Given the description of an element on the screen output the (x, y) to click on. 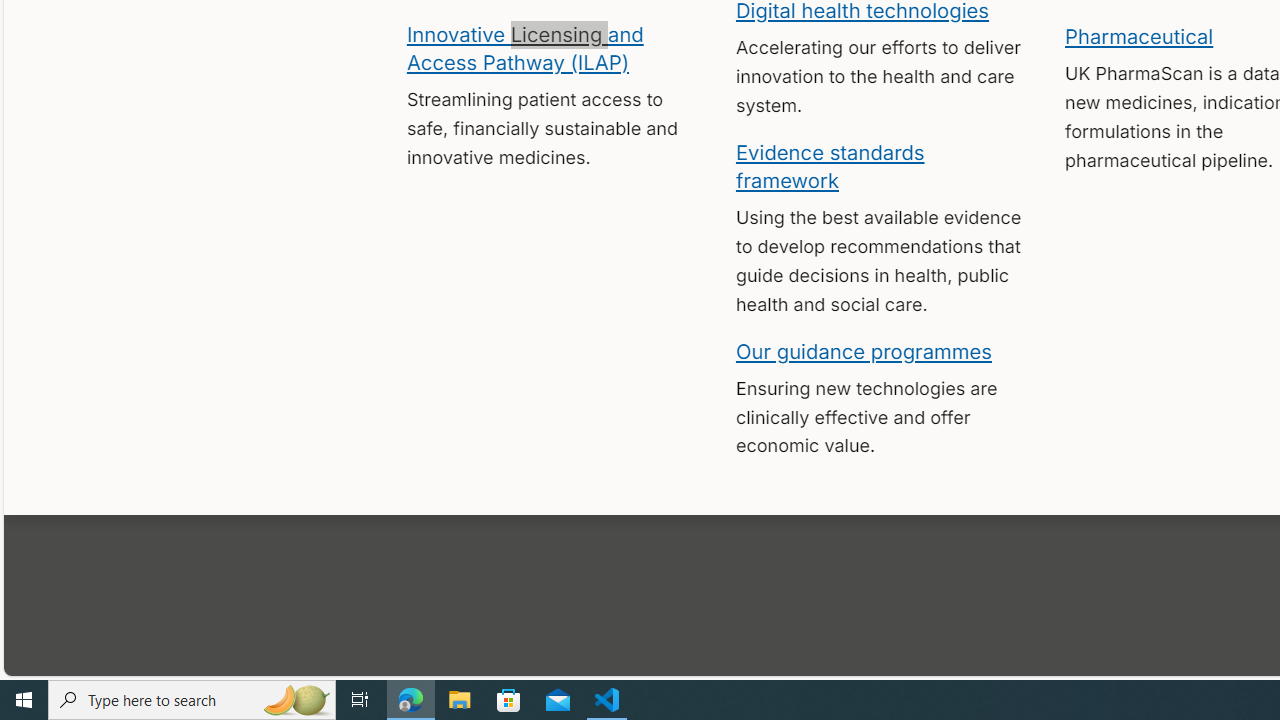
Evidence standards framework (829, 165)
Our guidance programmes (863, 350)
Innovative Licensing and Access Pathway (ILAP) (524, 47)
Pharmaceutical (1138, 35)
